Given the description of an element on the screen output the (x, y) to click on. 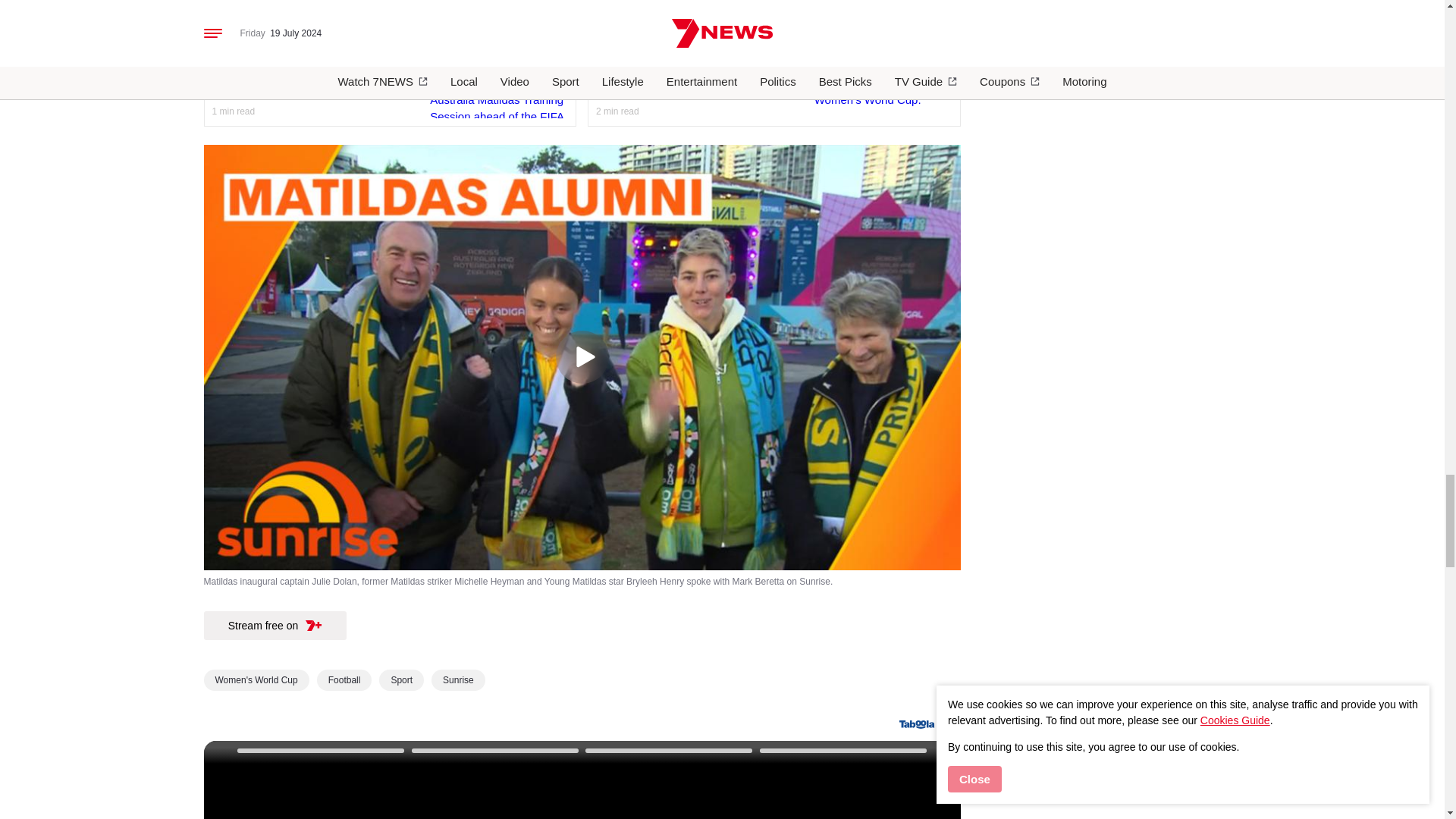
Play Video (581, 357)
Video (498, 78)
Video (882, 78)
